Given the description of an element on the screen output the (x, y) to click on. 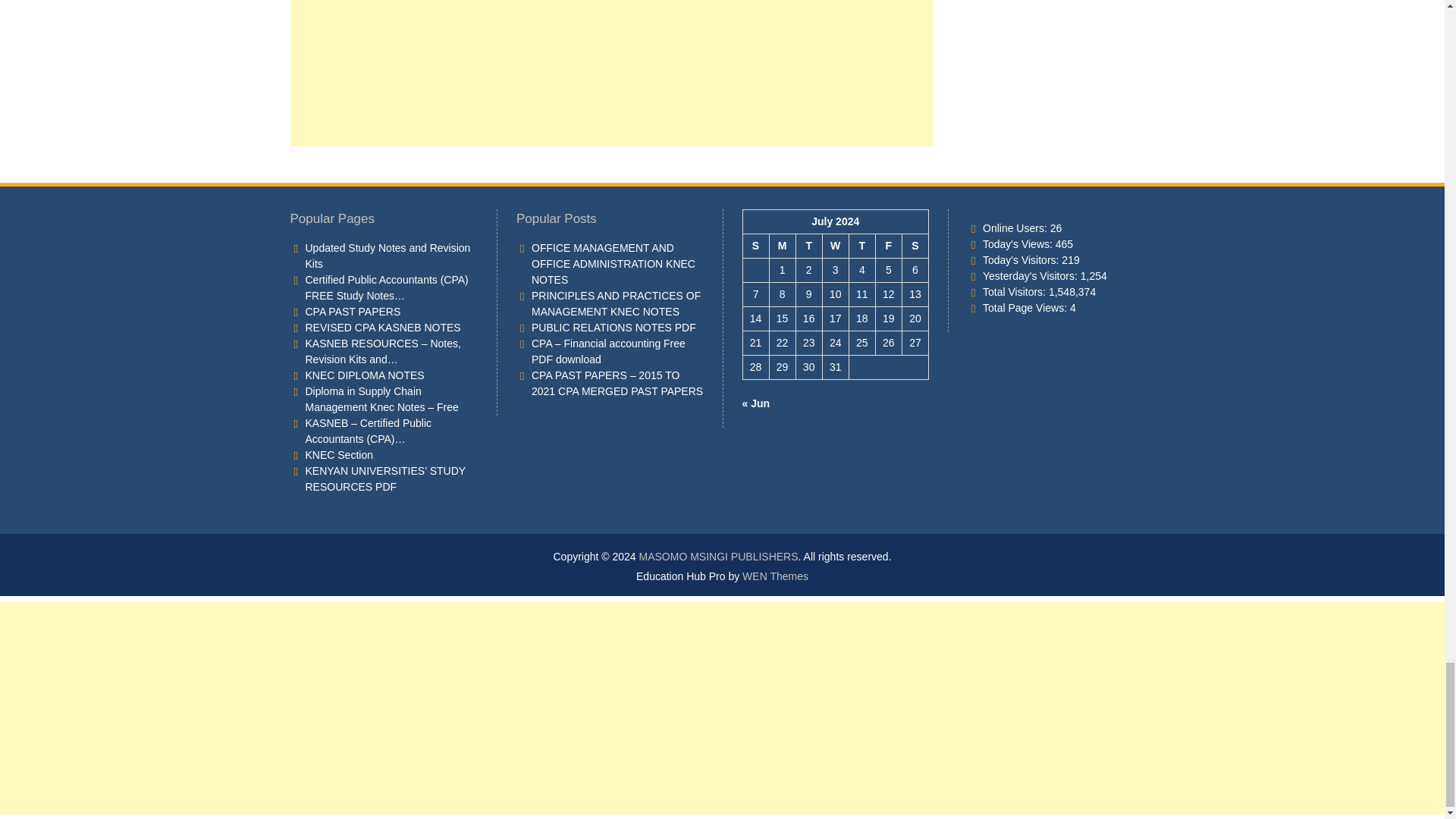
Monday (781, 246)
Tuesday (808, 246)
Thursday (861, 246)
Wednesday (835, 246)
Sunday (755, 246)
Saturday (914, 246)
Friday (888, 246)
